Given the description of an element on the screen output the (x, y) to click on. 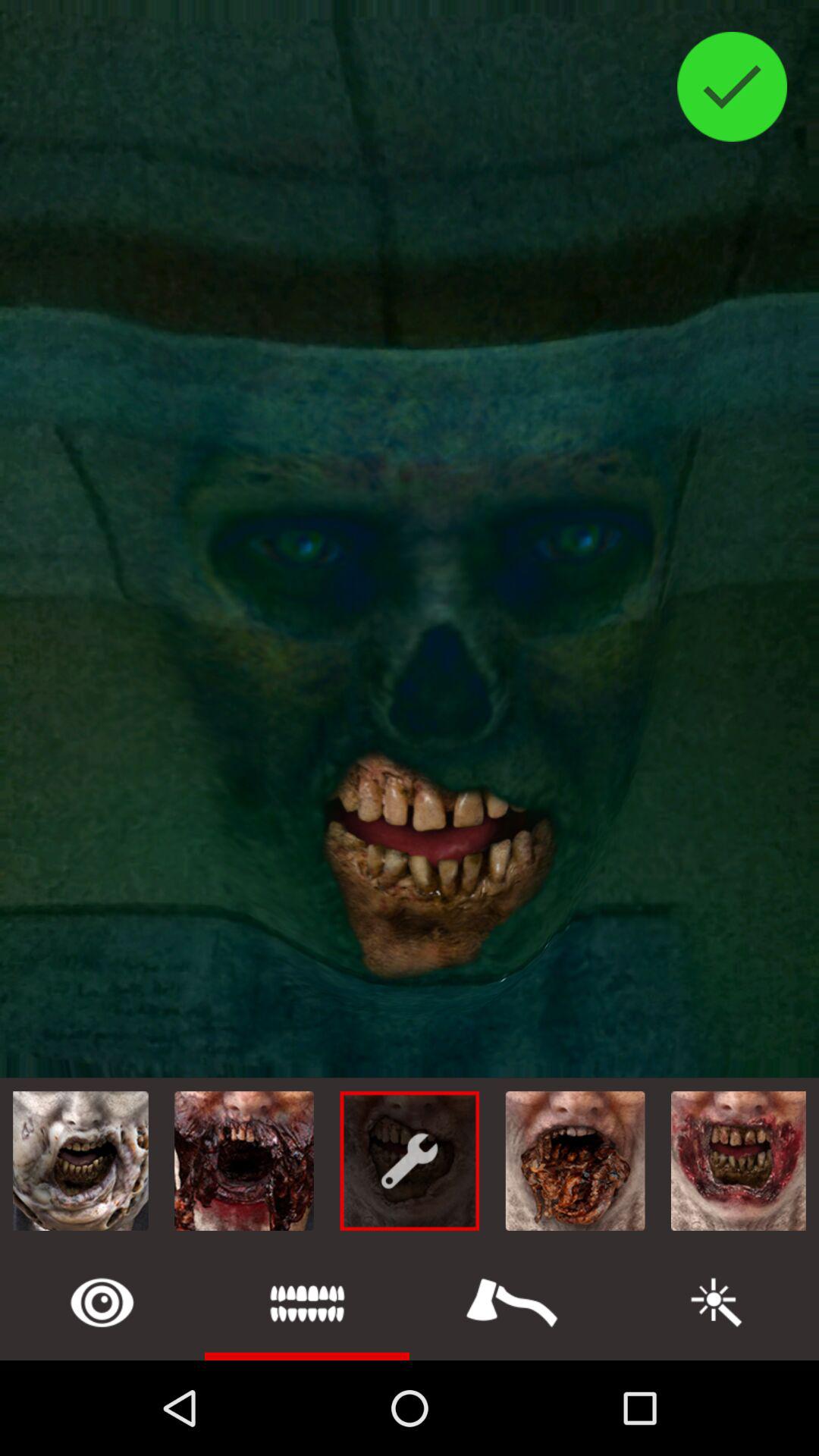
change teeth (306, 1302)
